Given the description of an element on the screen output the (x, y) to click on. 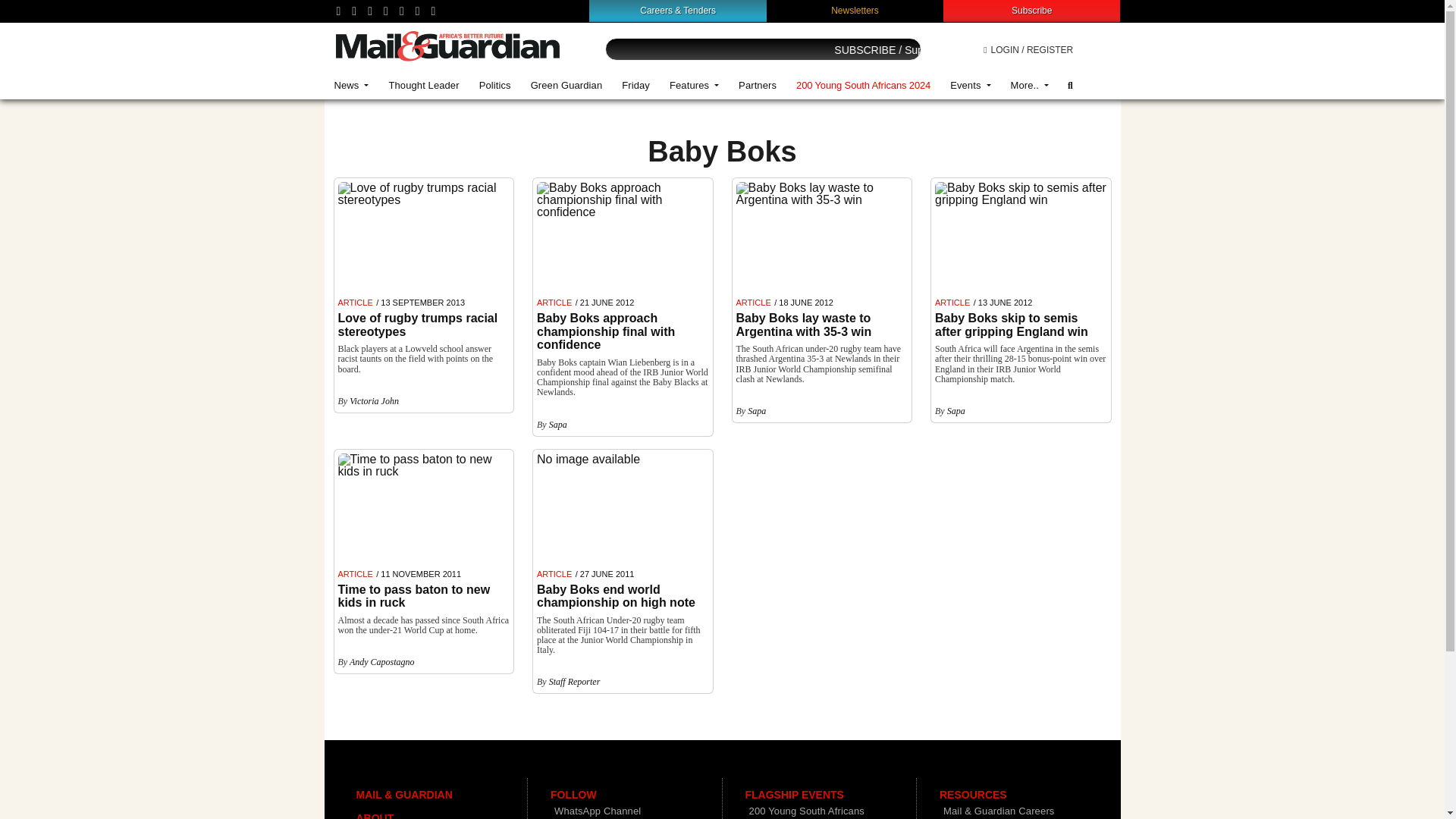
Green Guardian (566, 85)
Friday (635, 85)
Thought Leader (423, 85)
Subscribe (1031, 9)
Newsletters (855, 9)
Politics (494, 85)
News (351, 85)
News (351, 85)
